Given the description of an element on the screen output the (x, y) to click on. 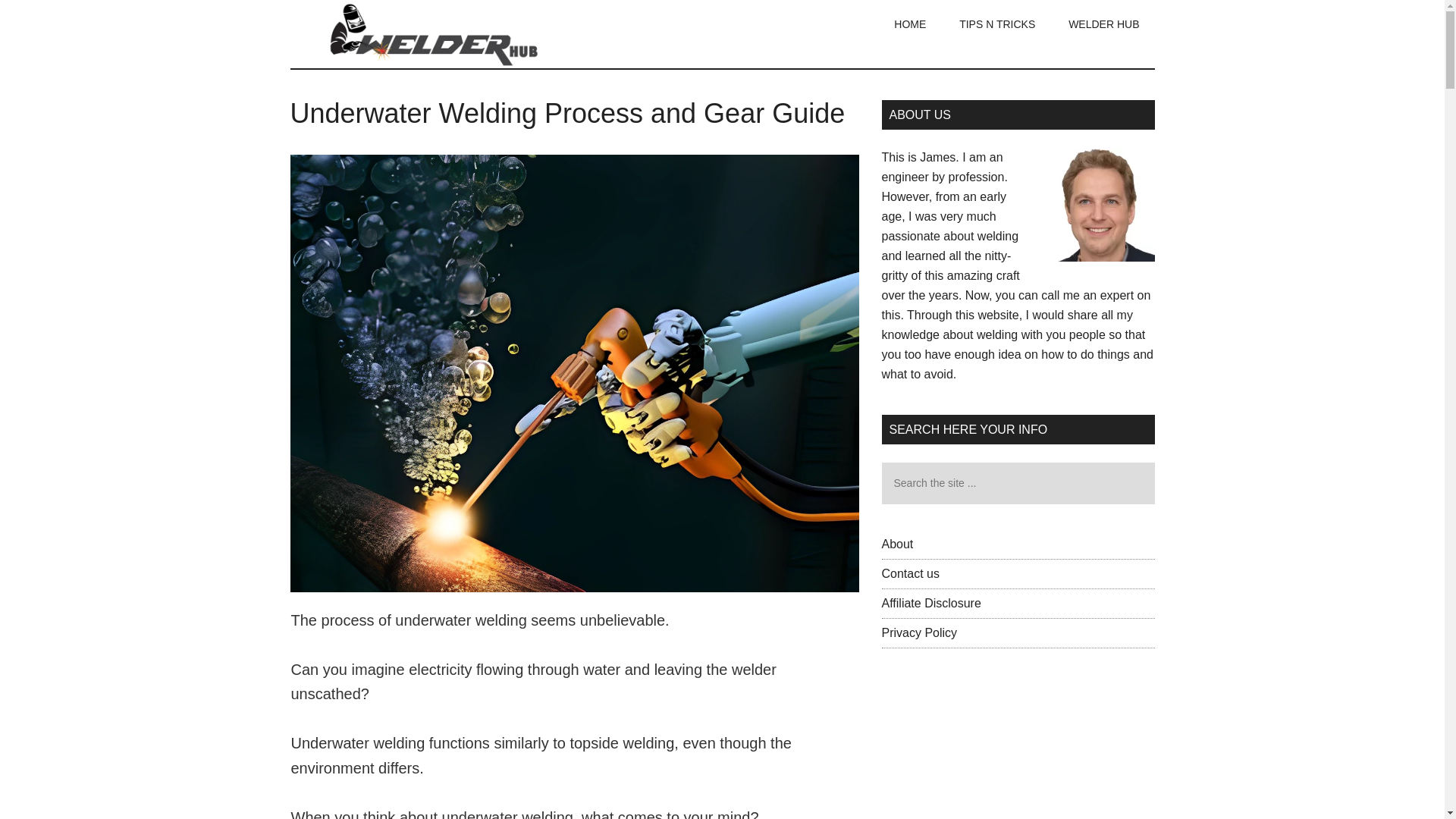
Privacy Policy (918, 632)
Affiliate Disclosure (929, 603)
HOME (909, 24)
TIPS N TRICKS (996, 24)
WelderHub.com: Welder and Welding Gear Tips and Tricks (433, 33)
WELDER HUB (1103, 24)
Contact us (909, 573)
About (896, 543)
